Given the description of an element on the screen output the (x, y) to click on. 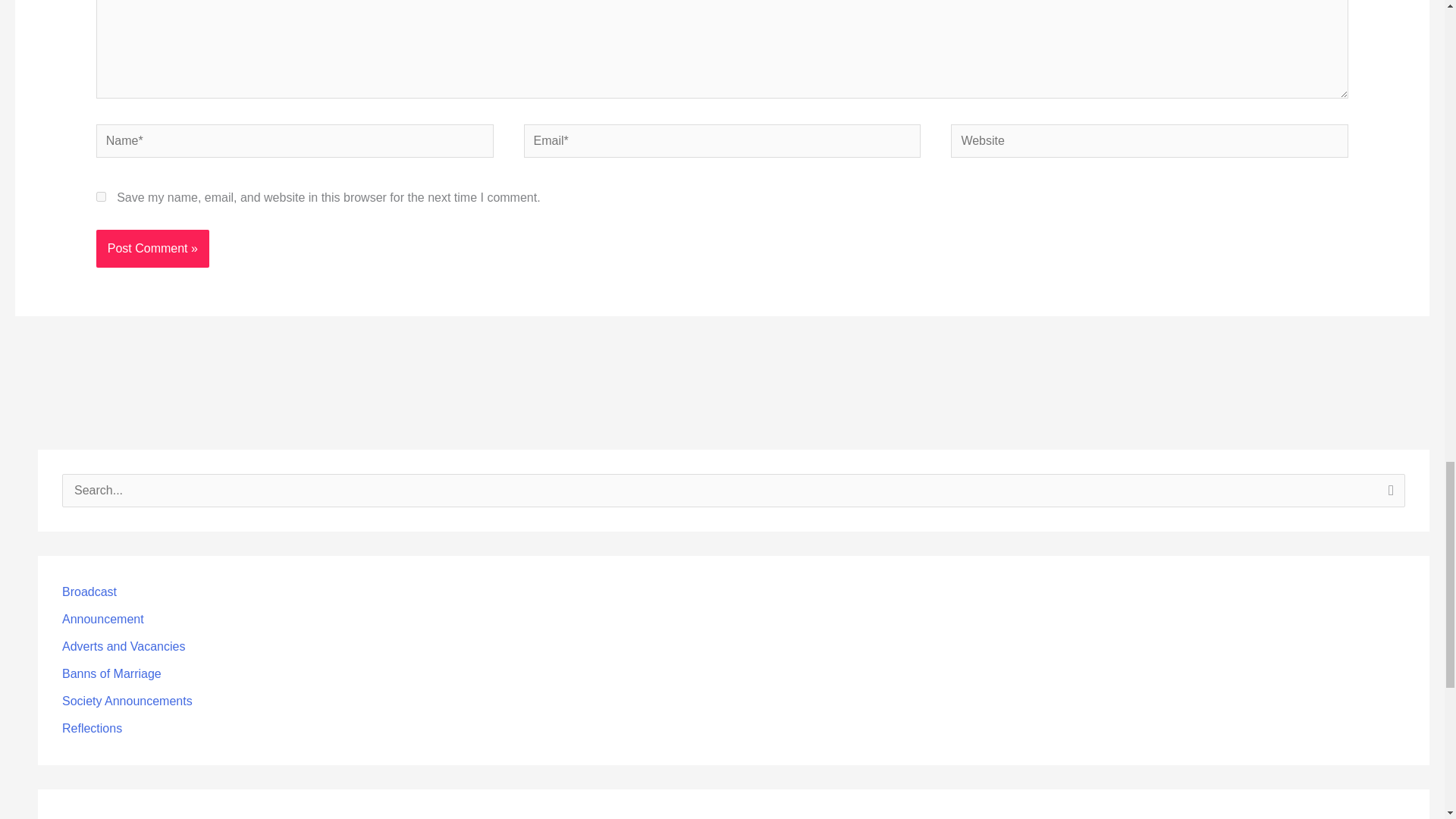
yes (101, 196)
Reflections (92, 727)
Adverts and Vacancies (123, 645)
Banns of Marriage (111, 673)
Society Announcements (127, 700)
Announcement (103, 618)
Broadcast (89, 591)
